Given the description of an element on the screen output the (x, y) to click on. 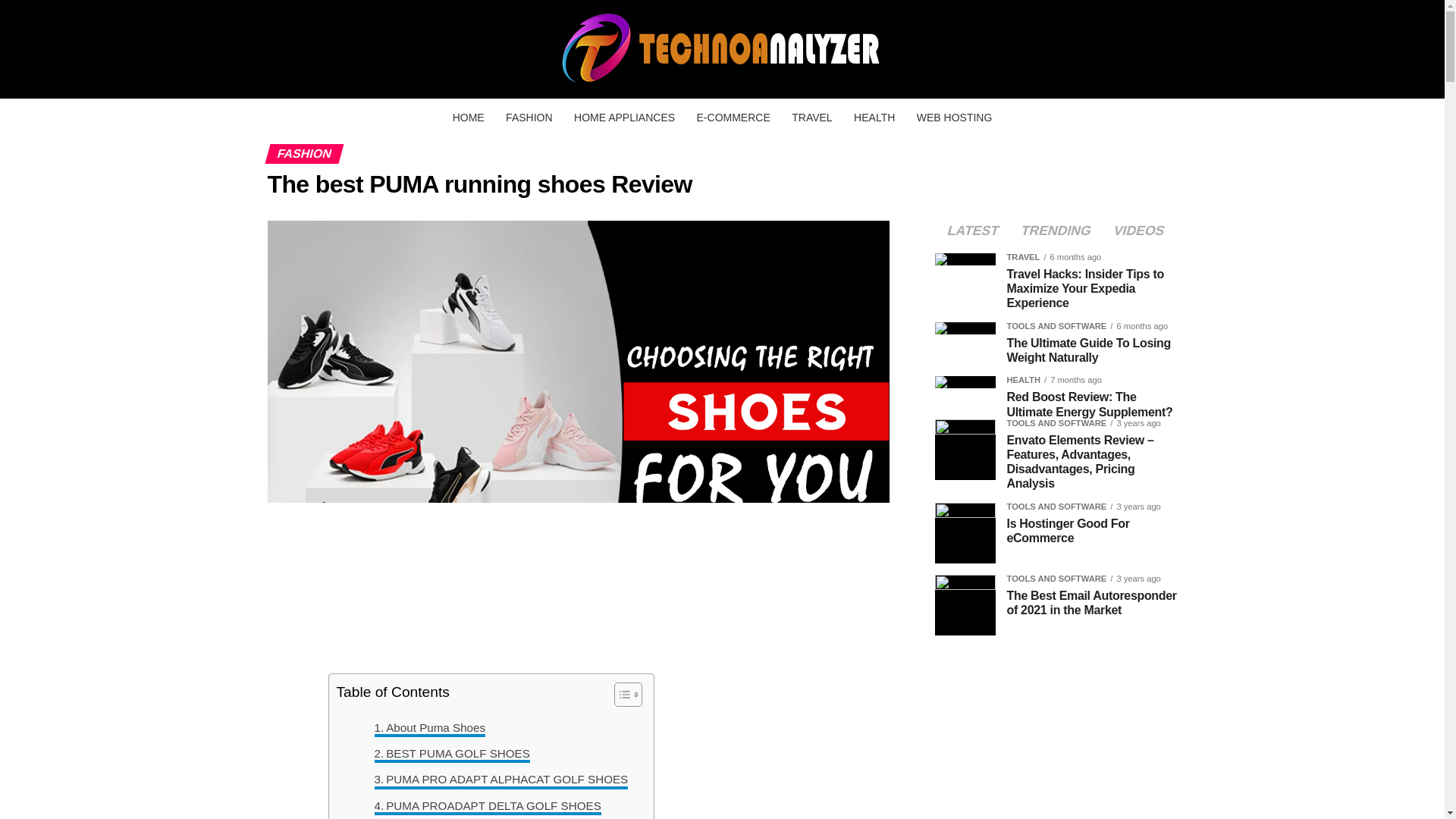
HOME (468, 117)
HOME APPLIANCES (624, 117)
PUMA PRO ADAPT ALPHACAT GOLF SHOES (501, 779)
BEST PUMA GOLF SHOES (451, 753)
BEST PUMA GOLF SHOES (451, 753)
About Puma Shoes (430, 728)
PUMA PROADAPT DELTA GOLF SHOES (487, 805)
About Puma Shoes (430, 728)
WEB HOSTING (954, 117)
TRAVEL (812, 117)
